Given the description of an element on the screen output the (x, y) to click on. 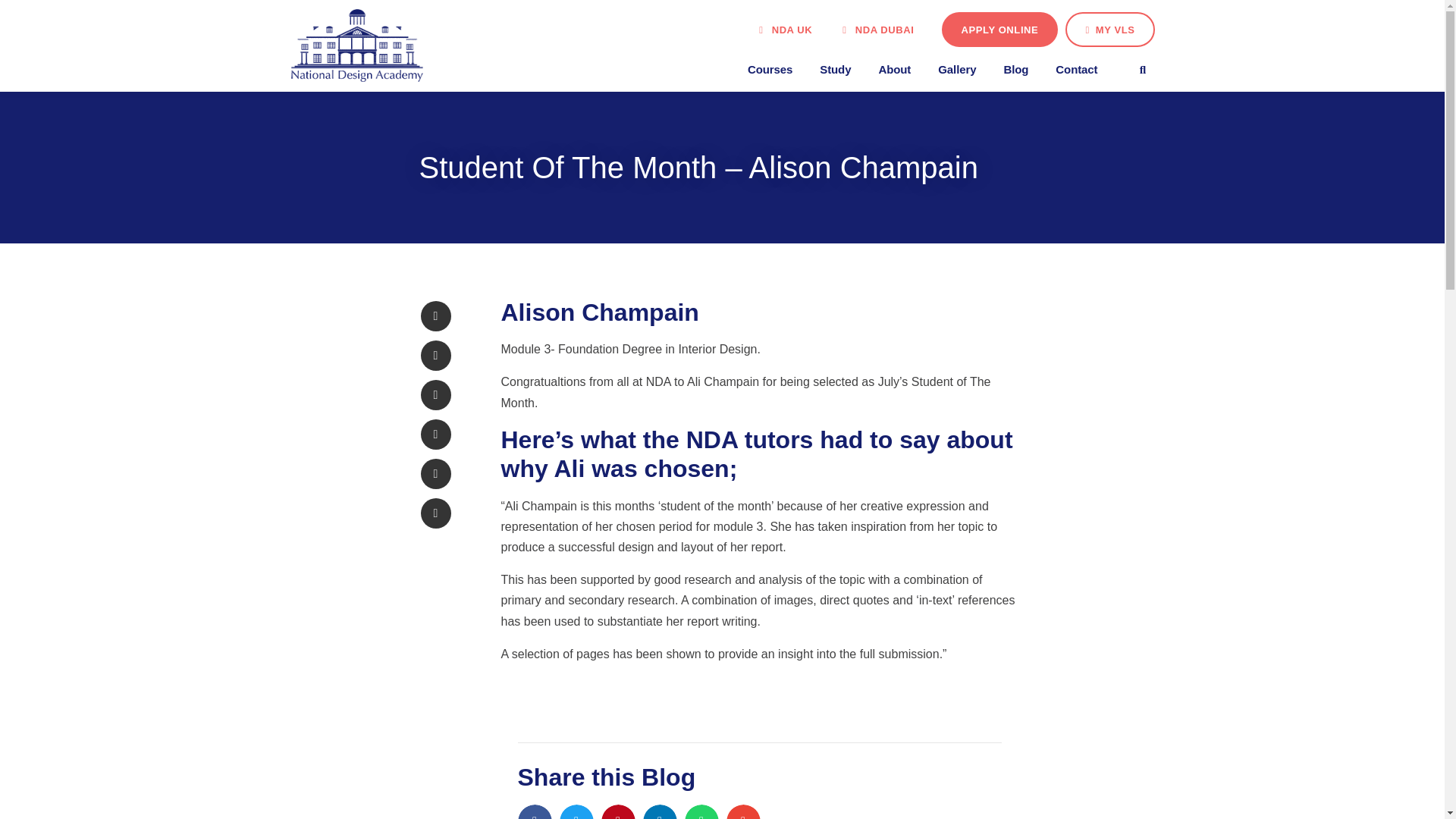
APPLY ONLINE (1000, 29)
NDA UK (785, 29)
Study (835, 69)
NDA DUBAI (877, 29)
Courses (769, 69)
MY VLS (1109, 29)
